Given the description of an element on the screen output the (x, y) to click on. 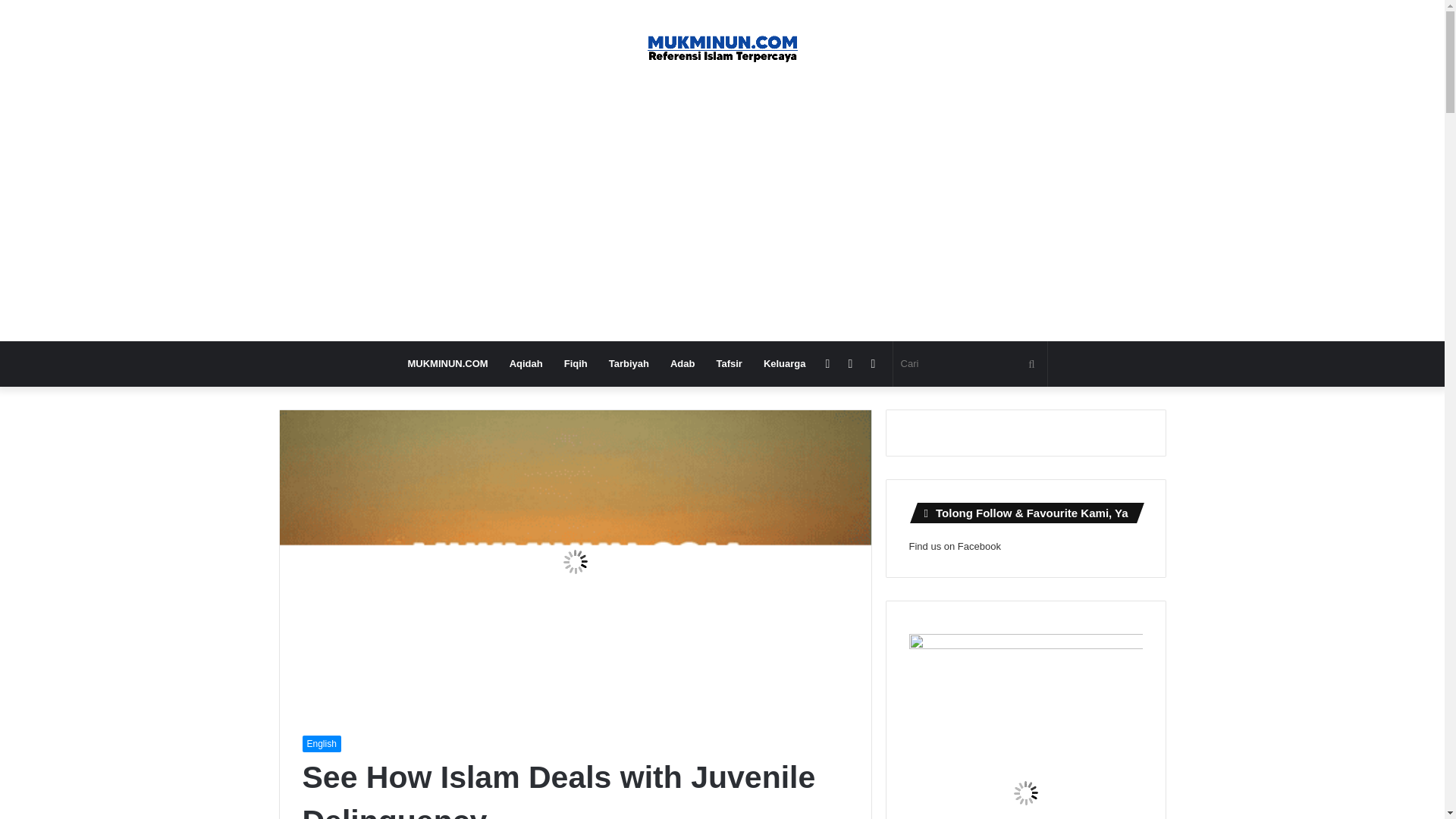
MUKMINUN.COM (446, 363)
MUKMINUN (721, 48)
Cari (969, 363)
Adab (682, 363)
Keluarga (784, 363)
English (320, 743)
Tarbiyah (628, 363)
Tafsir (728, 363)
Fiqih (575, 363)
